Given the description of an element on the screen output the (x, y) to click on. 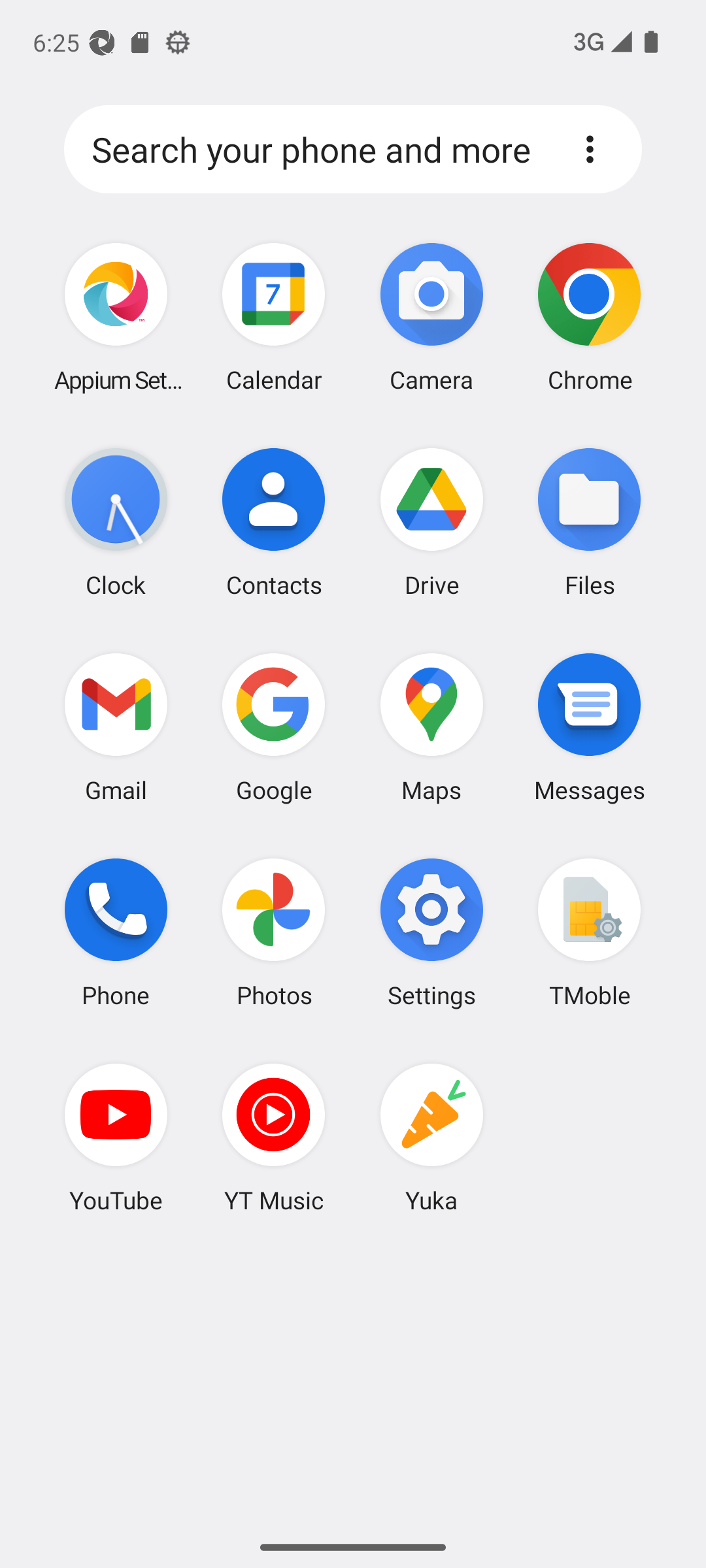
Search your phone and more (318, 149)
Preferences (589, 149)
Appium Settings (115, 317)
Calendar (273, 317)
Camera (431, 317)
Chrome (589, 317)
Clock (115, 522)
Contacts (273, 522)
Drive (431, 522)
Files (589, 522)
Gmail (115, 726)
Google (273, 726)
Maps (431, 726)
Messages (589, 726)
Phone (115, 931)
Photos (273, 931)
Settings (431, 931)
TMoble (589, 931)
YouTube (115, 1137)
YT Music (273, 1137)
Yuka (431, 1137)
